Given the description of an element on the screen output the (x, y) to click on. 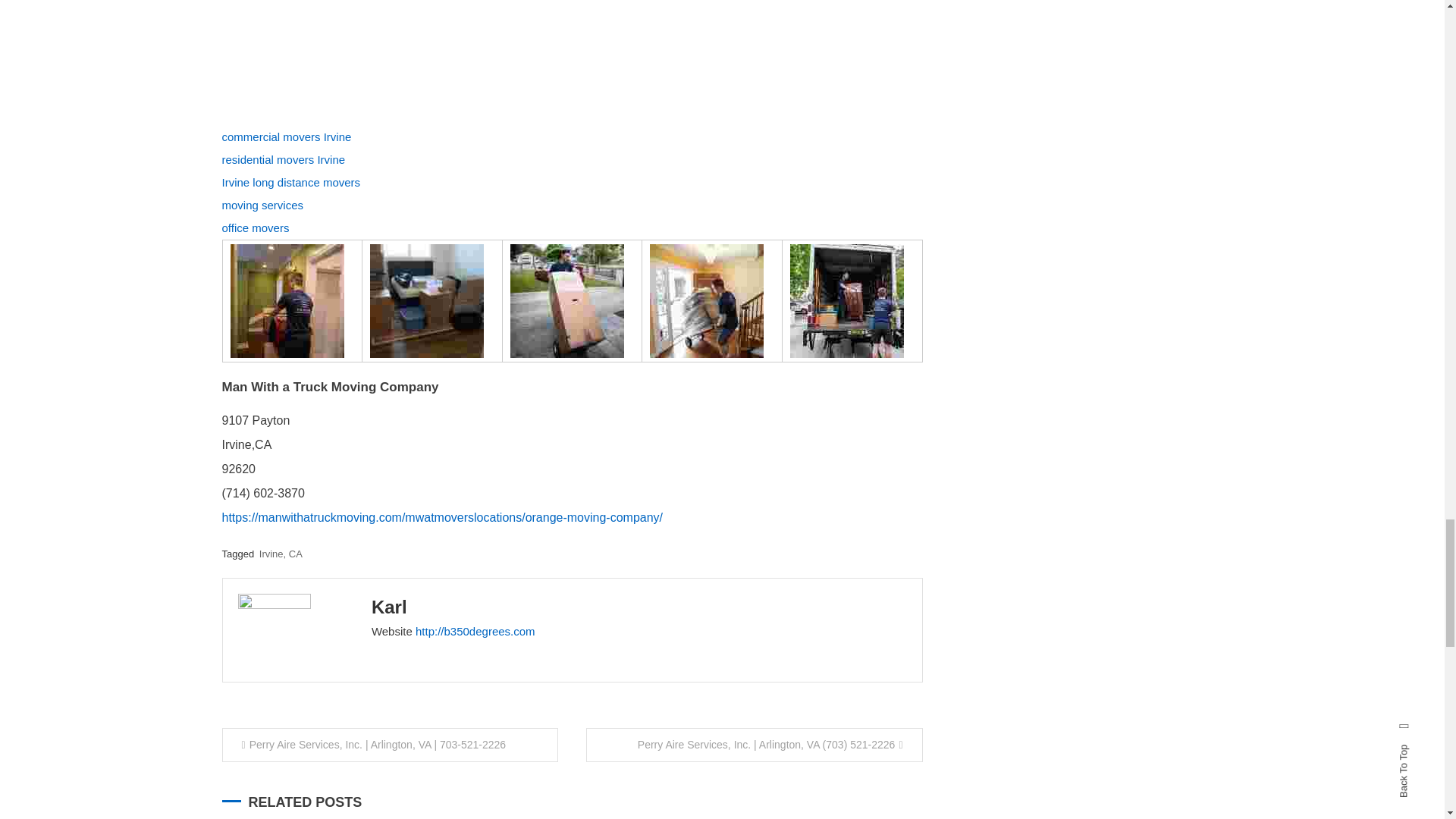
Posts by Karl (389, 607)
